Given the description of an element on the screen output the (x, y) to click on. 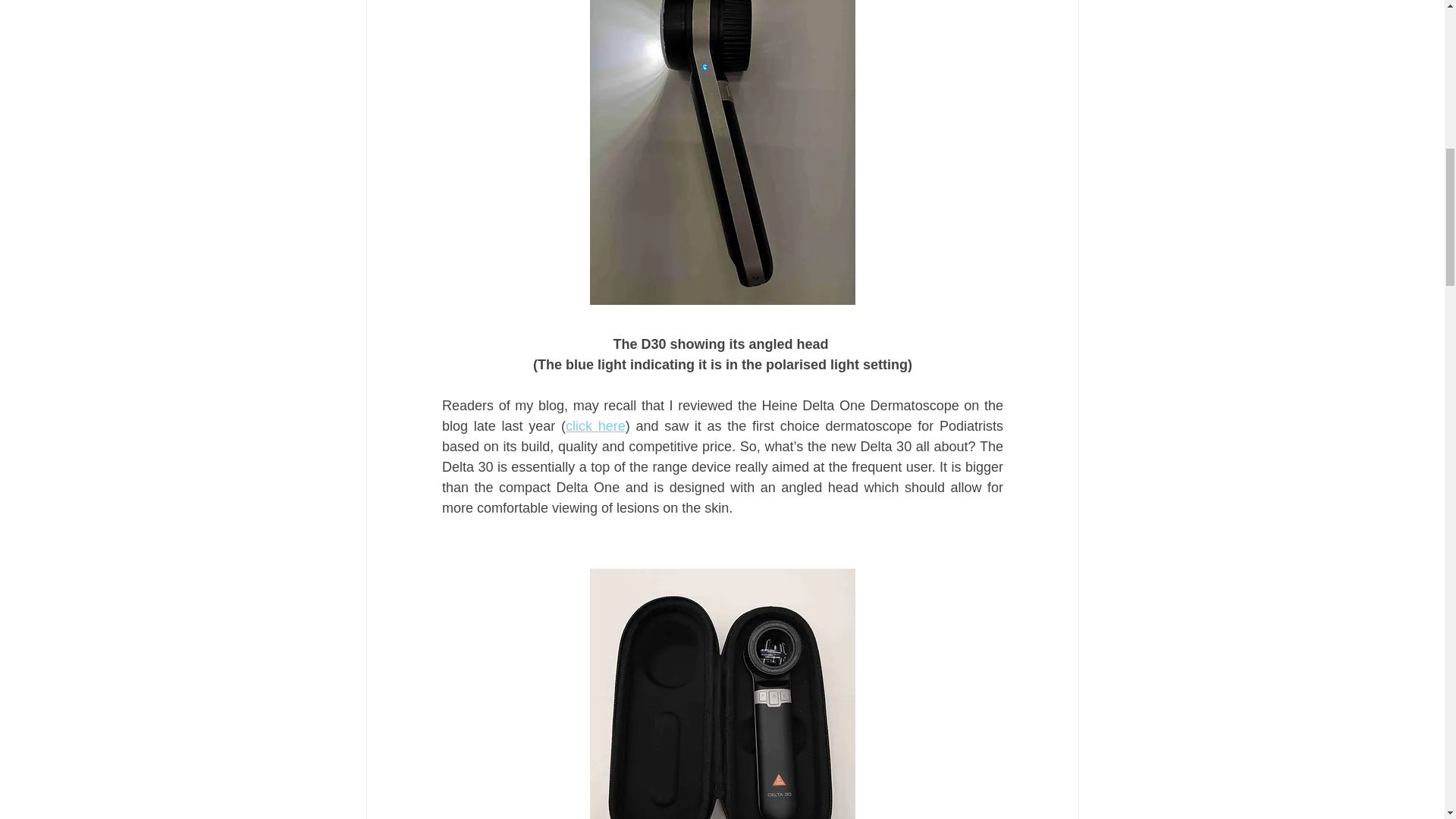
click here (594, 426)
